Given the description of an element on the screen output the (x, y) to click on. 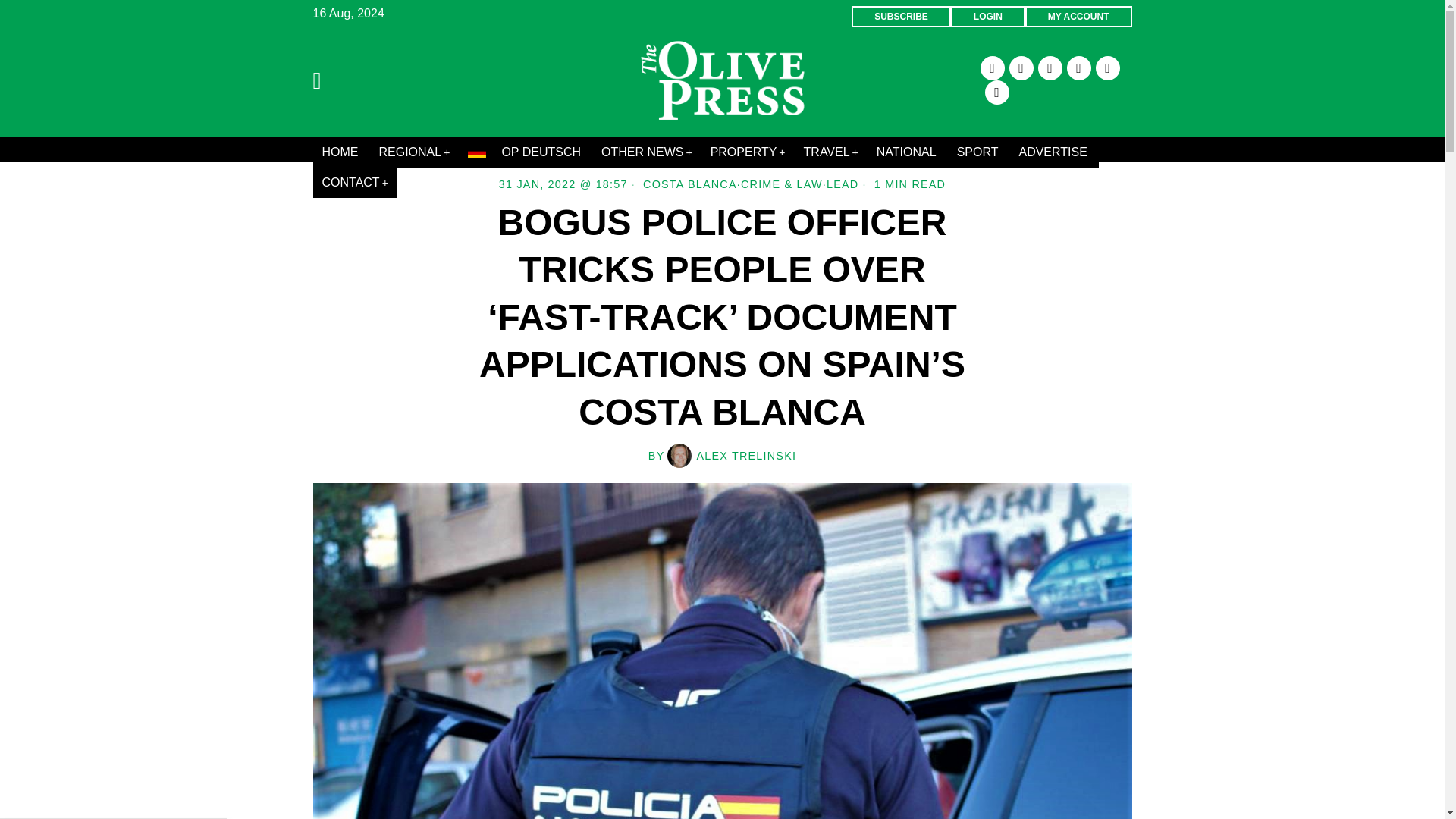
31 Jan, 2022 18:45:57 (563, 183)
REGIONAL (414, 152)
LOGIN (987, 16)
OTHER NEWS (646, 152)
MY ACCOUNT (1078, 16)
OP DEUTSCH (525, 152)
HOME (341, 152)
SUBSCRIBE (900, 16)
